Given the description of an element on the screen output the (x, y) to click on. 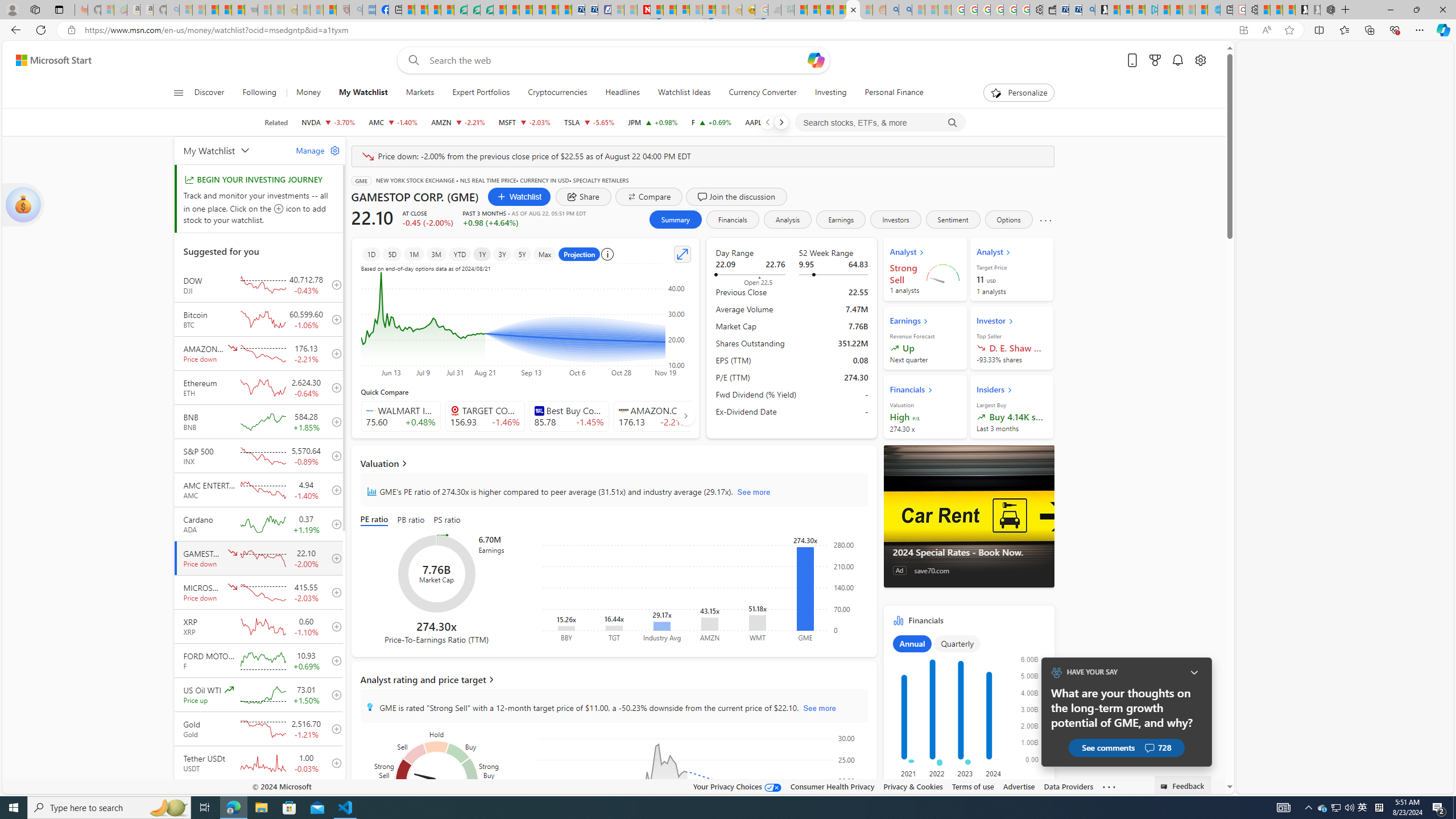
Annual (911, 643)
Next (780, 122)
AMZN AMAZON.COM, INC. decrease 176.13 -3.98 -2.21% (457, 122)
5Y (521, 254)
My Watchlist (232, 150)
Data Providers (1068, 785)
Headlines (622, 92)
